Given the description of an element on the screen output the (x, y) to click on. 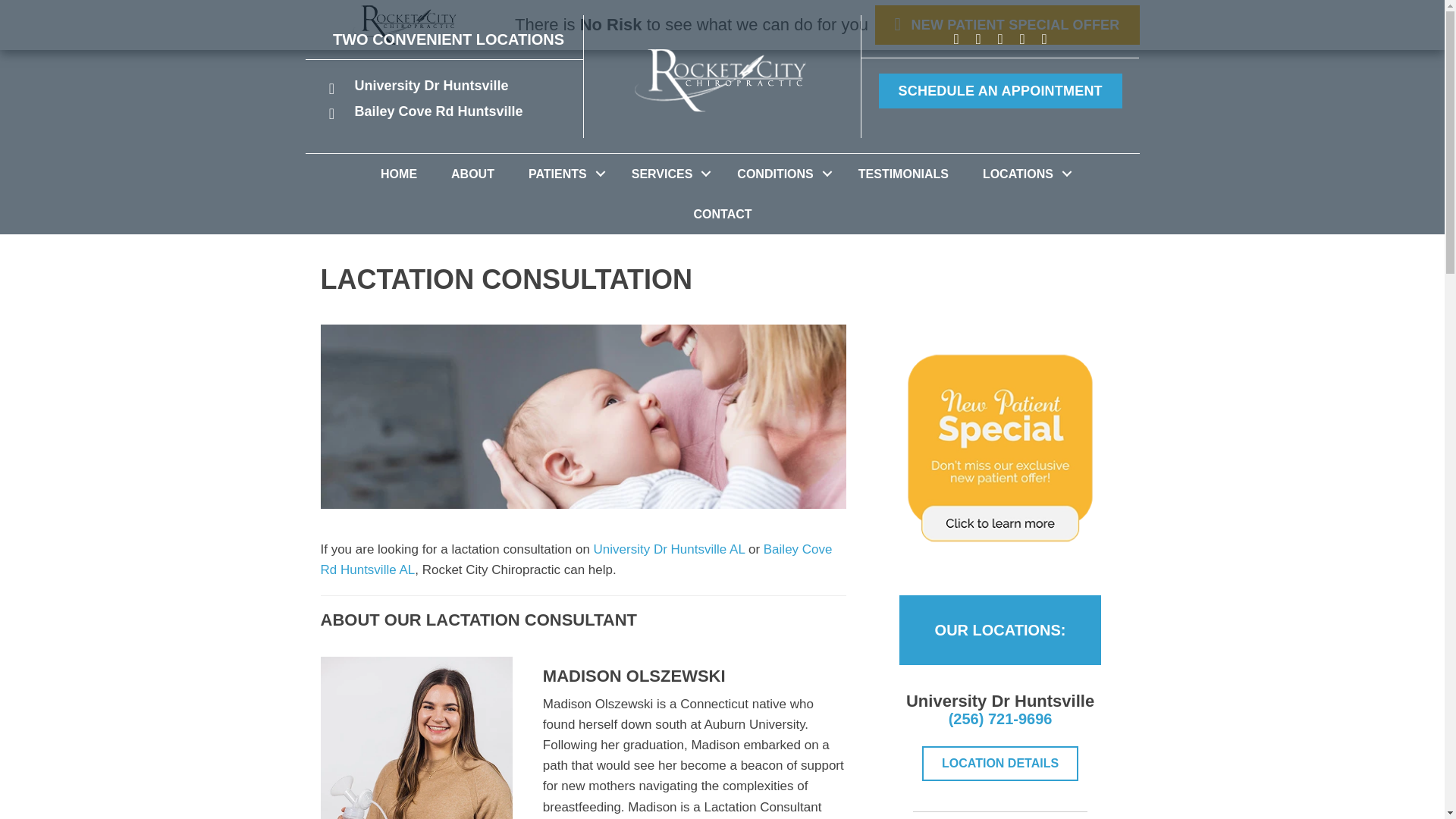
HOME (398, 173)
Chiropractic Huntsville AL Rocket City Chiropractic (405, 24)
SCHEDULE AN APPOINTMENT (1000, 90)
CONDITIONS (780, 173)
Chiropractic Huntsville AL Rocket City Chiropractic (721, 80)
Chiropractic Huntsville AL Mom and Baby (582, 416)
SERVICES (667, 173)
Chiropractic Huntsville AL Madison with Breast Pump (416, 737)
NEW PATIENT SPECIAL OFFER (1007, 24)
ABOUT (472, 173)
PATIENTS (563, 173)
